Given the description of an element on the screen output the (x, y) to click on. 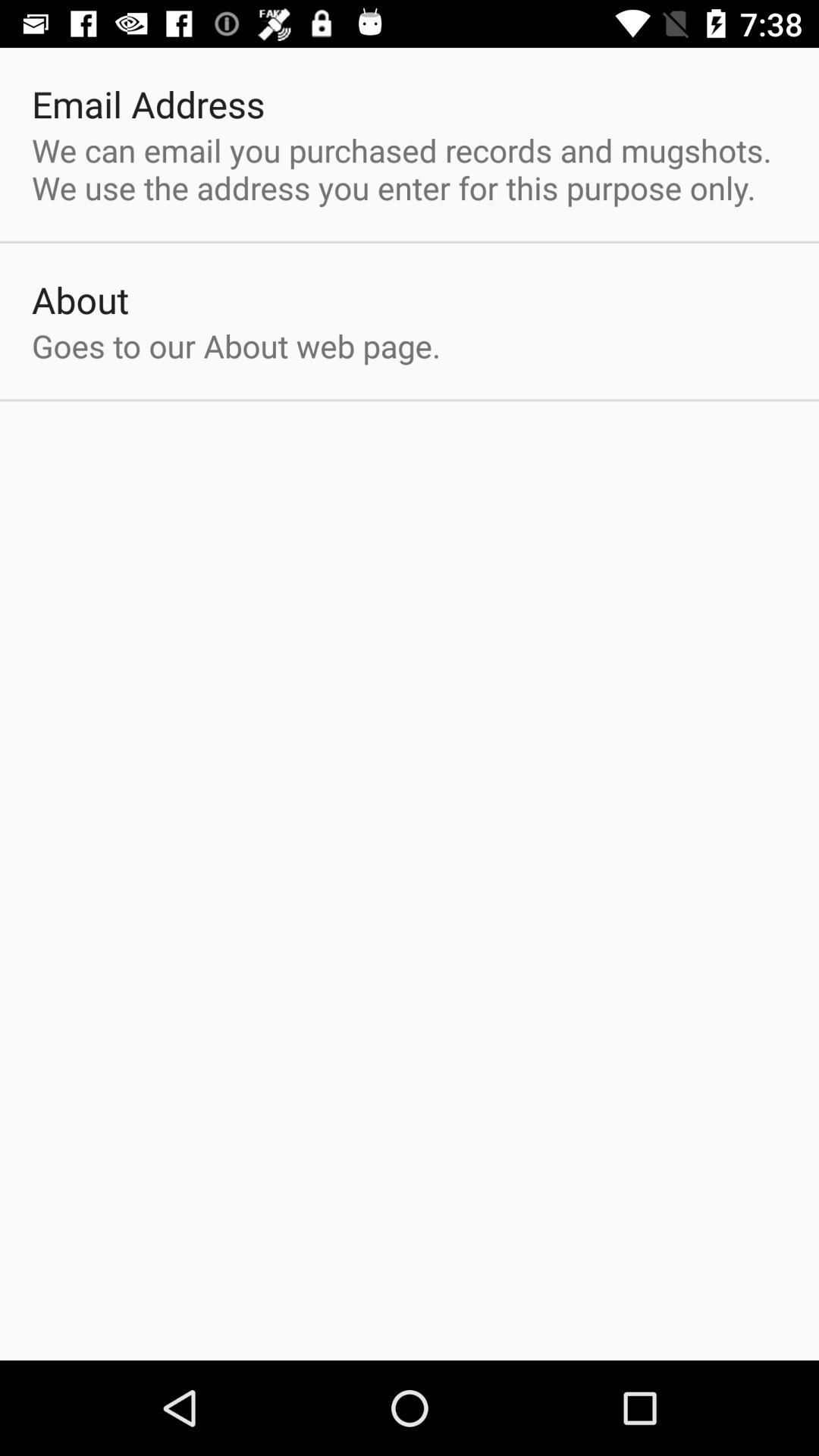
choose the we can email item (409, 168)
